Given the description of an element on the screen output the (x, y) to click on. 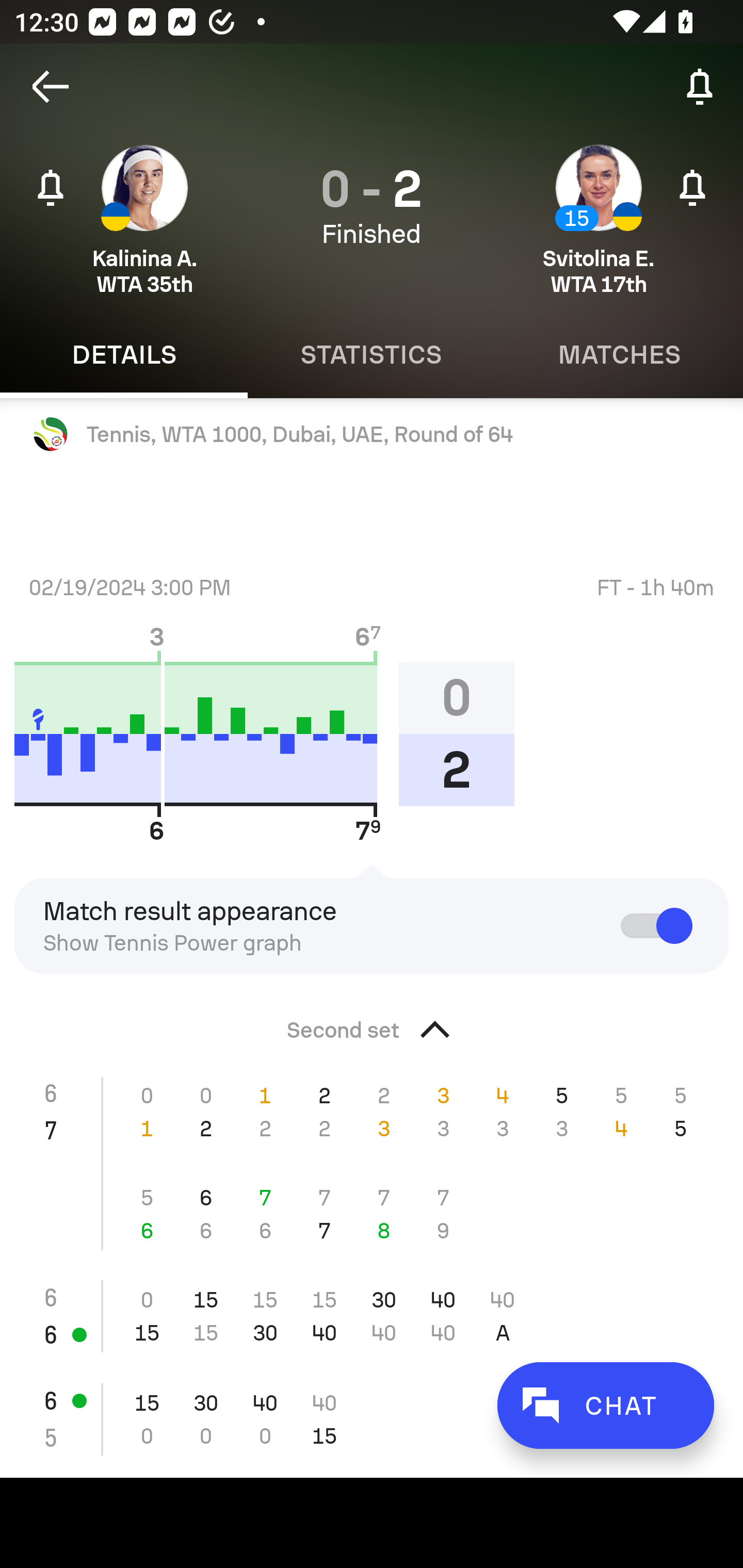
Navigate up (50, 86)
Statistics STATISTICS (371, 355)
Matches MATCHES (619, 355)
Tennis, WTA 1000, Dubai, UAE, Round of 64 (371, 434)
3 6 6 7 7 9 0 2 (271, 733)
Second set (371, 1023)
6 0 0 1 2 2 3 4 5 5 5 7 1 2 2 2 3 3 3 3 4 5 (371, 1111)
5 6 7 7 7 7 6 6 6 7 8 9 (371, 1214)
6 0 15 15 15 30 40 40 6 15 15 30 40 40 40 A (371, 1316)
CHAT (605, 1405)
6 15 30 40 40 5 0 0 0 15 (371, 1418)
